Given the description of an element on the screen output the (x, y) to click on. 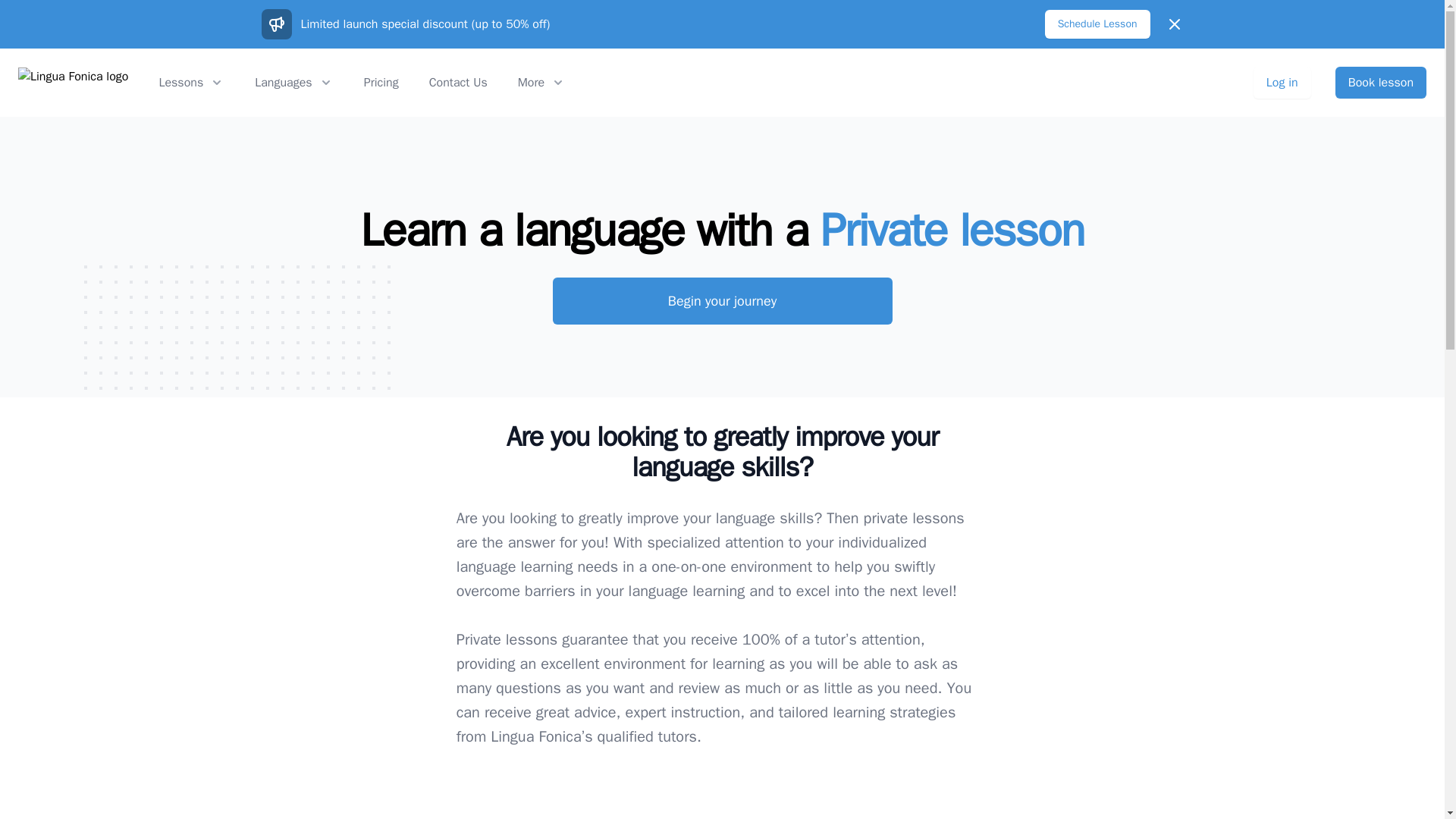
Dismiss (1173, 24)
Book lesson (1380, 82)
Lessons (191, 82)
Contact Us (458, 82)
Schedule Lesson (1097, 23)
Log in (1282, 82)
Languages (293, 82)
Pricing (381, 82)
Begin your journey (721, 300)
Lingua Fonica (72, 82)
